Given the description of an element on the screen output the (x, y) to click on. 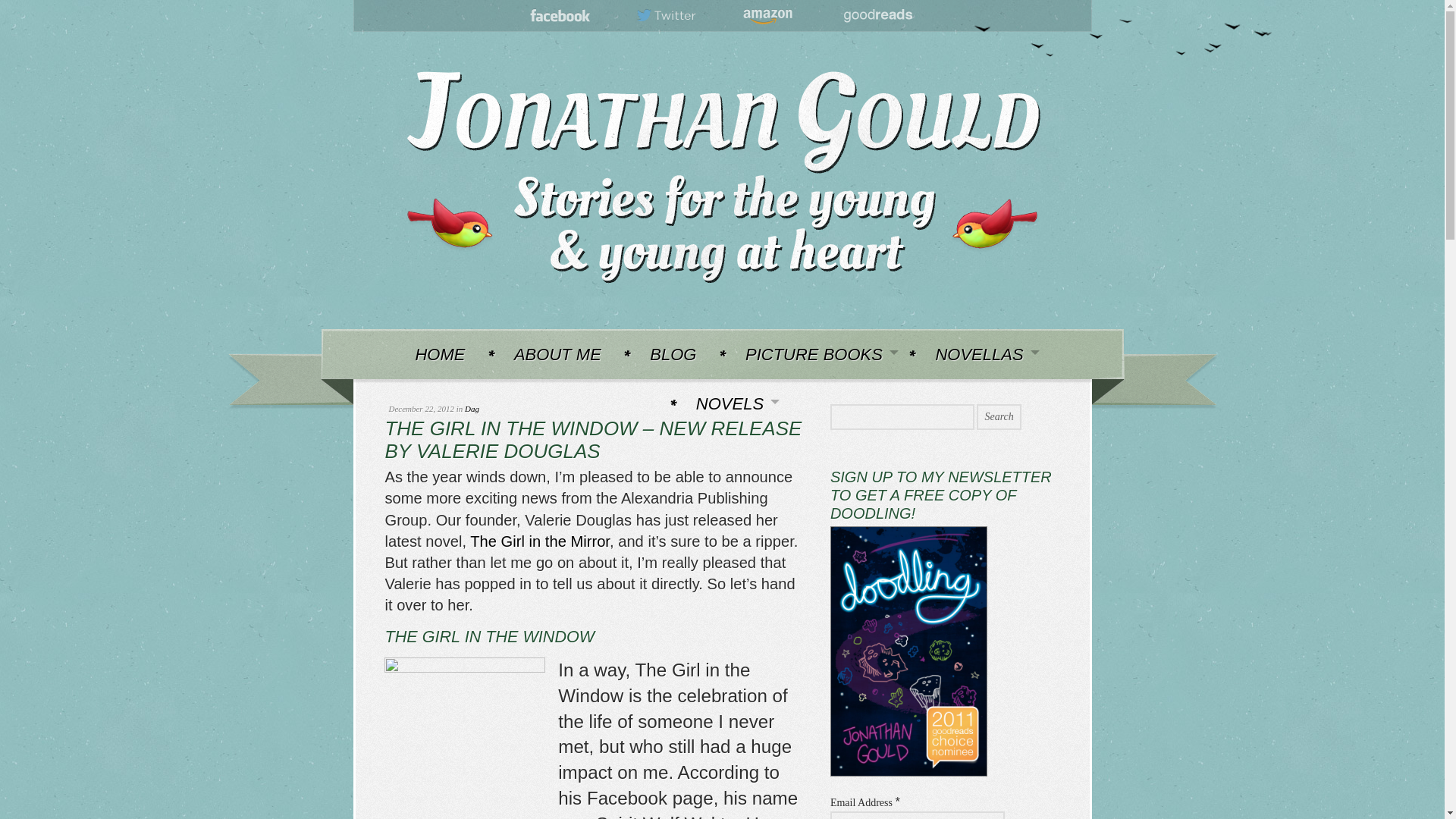
facebook (560, 16)
Dag (471, 408)
twitter (666, 16)
mixcloud (877, 16)
NOVELLAS (980, 354)
The Girl in the Mirror (540, 541)
NOVELS (731, 403)
amazon (767, 16)
Search (998, 416)
HOME (439, 354)
